Given the description of an element on the screen output the (x, y) to click on. 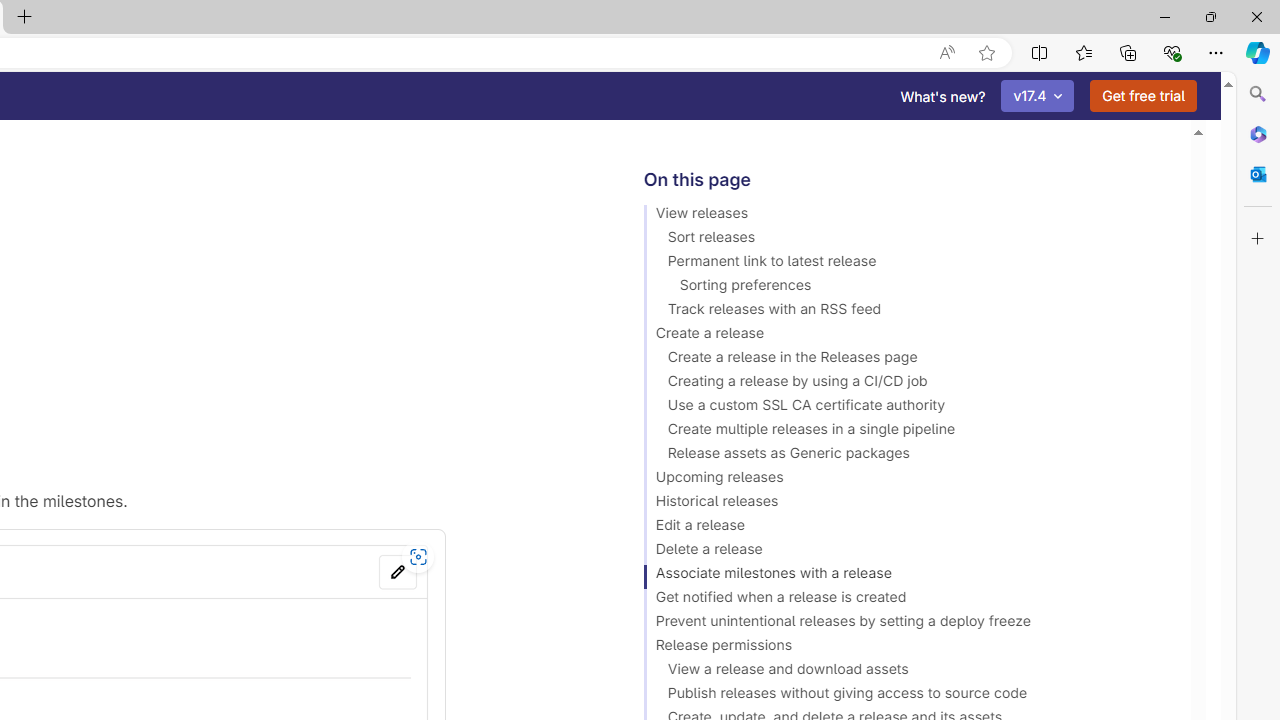
Create a release (908, 336)
Permanent link to latest release (908, 264)
Creating a release by using a CI/CD job (908, 384)
View a release and download assets (908, 672)
Associate milestones with a release (908, 575)
Get notified when a release is created (908, 600)
Publish releases without giving access to source code (908, 696)
Sort releases (908, 240)
Sort releases (908, 240)
Edit a release (908, 528)
Prevent unintentional releases by setting a deploy freeze (908, 624)
Release permissions (908, 647)
